Given the description of an element on the screen output the (x, y) to click on. 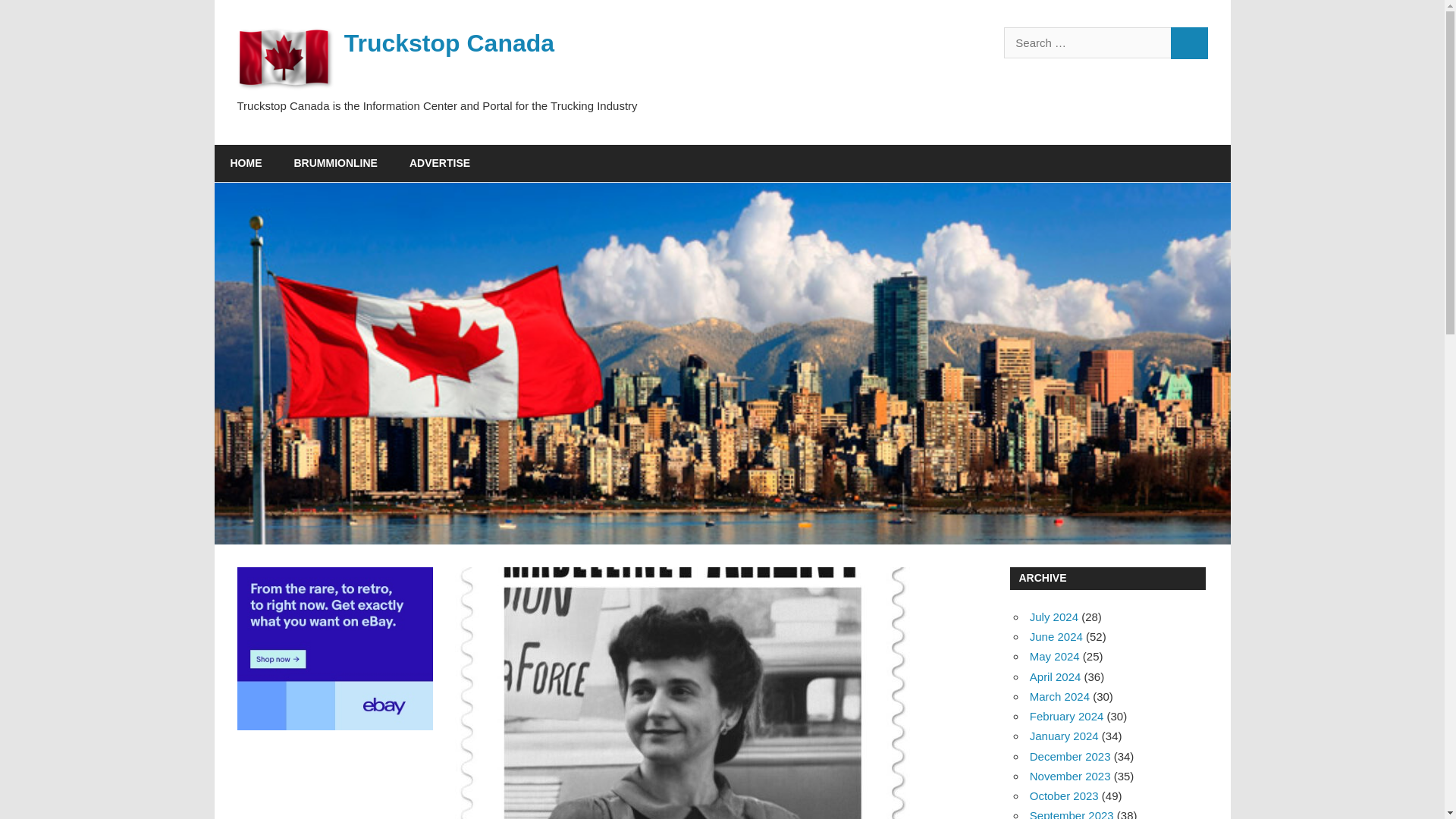
SEARCH (1189, 42)
September 2023 (1071, 814)
HOME (246, 163)
November 2023 (1069, 775)
June 2024 (1056, 635)
April 2024 (1055, 676)
Truckstop Canada (448, 42)
October 2023 (1064, 795)
February 2024 (1066, 716)
ADVERTISE (439, 163)
BRUMMIONLINE (335, 163)
January 2024 (1064, 735)
Search for: (1088, 42)
July 2024 (1053, 616)
